Given the description of an element on the screen output the (x, y) to click on. 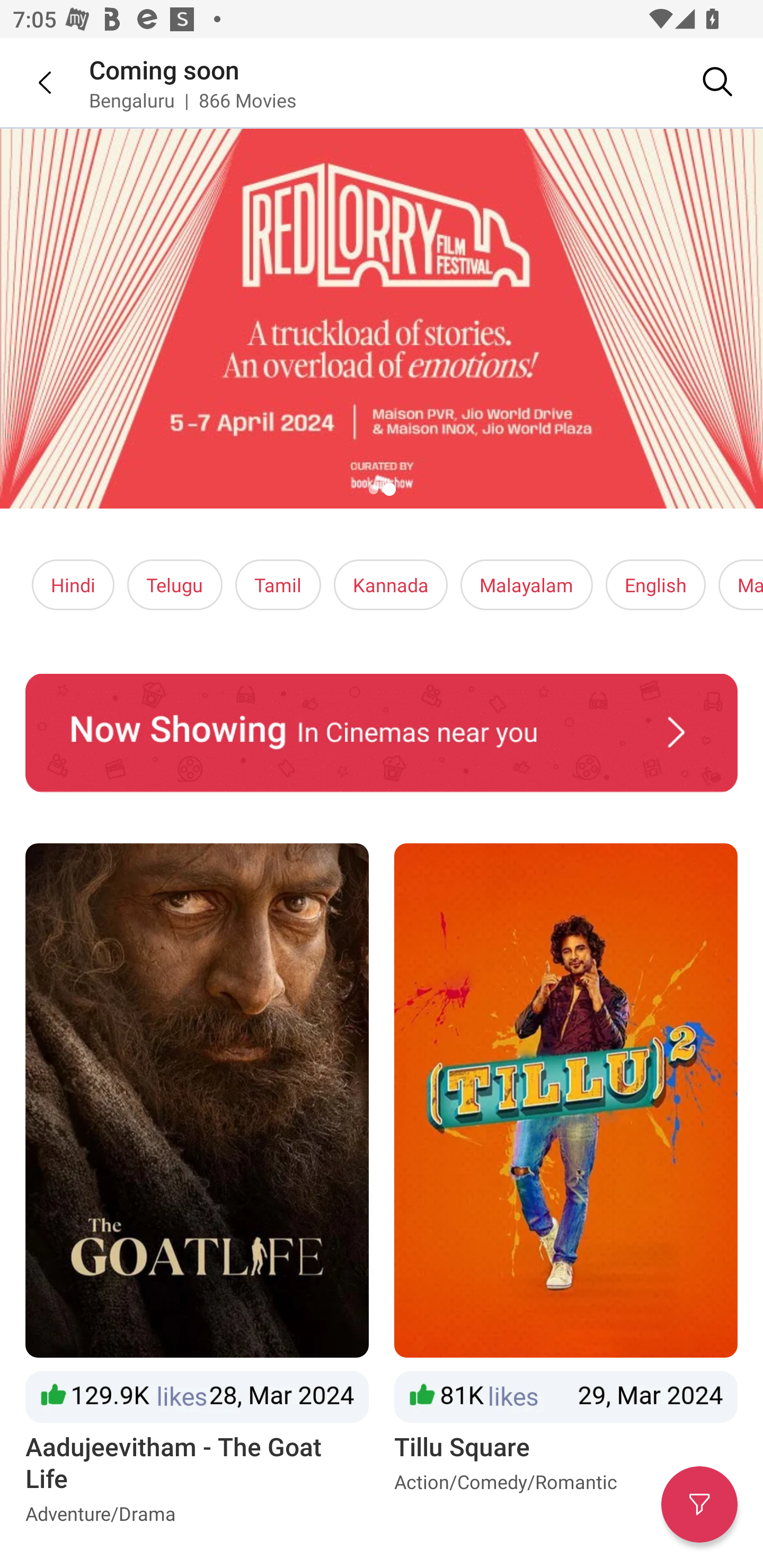
Back (31, 82)
Coming soon (164, 68)
Bengaluru  |  866 Movies (192, 99)
Hindi (73, 584)
Telugu (174, 584)
Tamil (278, 584)
Kannada (390, 584)
Malayalam (526, 584)
English (655, 584)
Aadujeevitham - The Goat Life Adventure/Drama (196, 1187)
Tillu Square Action/Comedy/Romantic (565, 1187)
Filter (699, 1504)
